Given the description of an element on the screen output the (x, y) to click on. 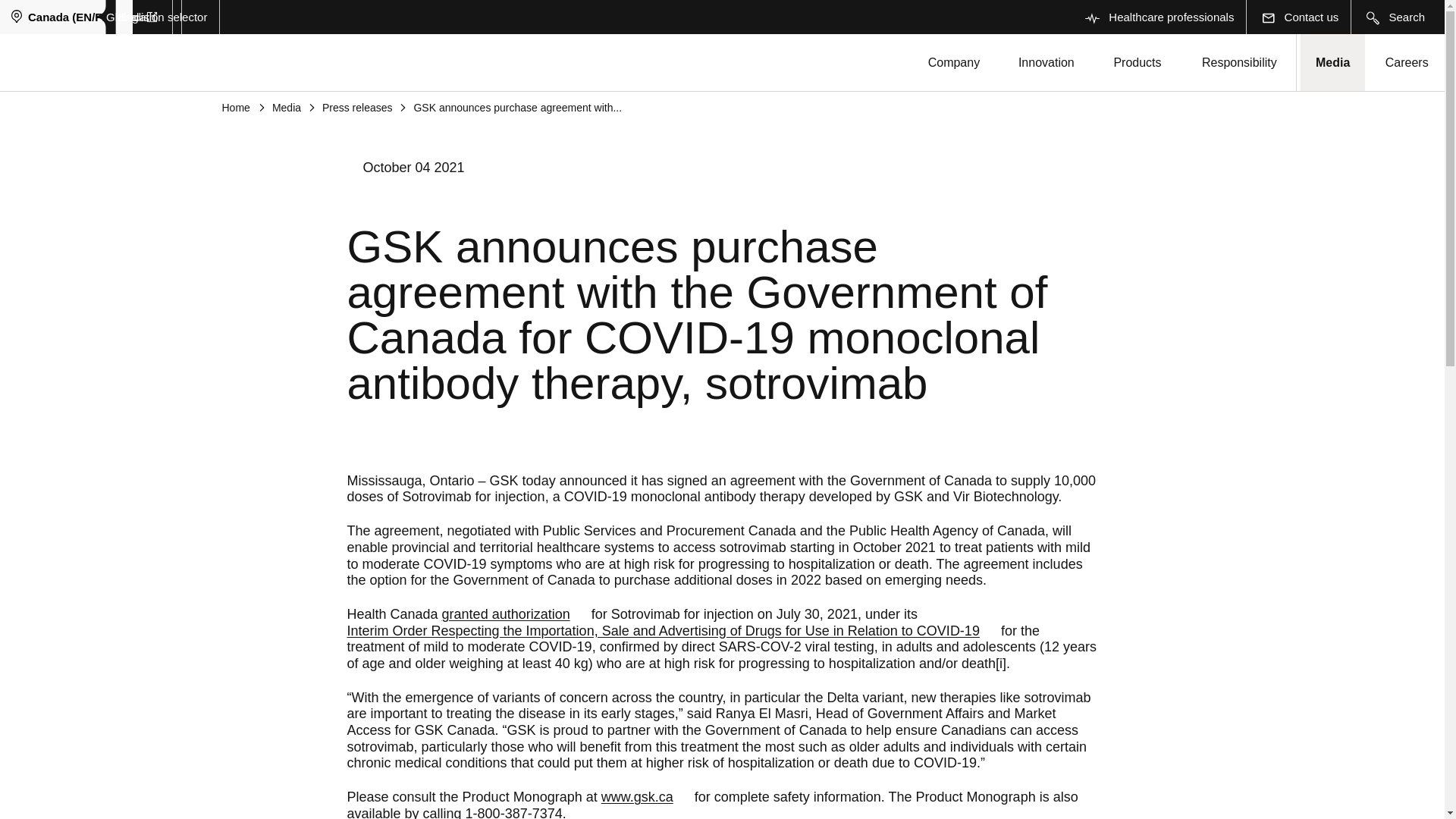
Global (131, 17)
Search (1394, 17)
Products (1136, 62)
Healthcare professionals Healthcare professionals (1158, 17)
Innovation (1046, 62)
Home (645, 797)
Contact us Contact us (1298, 17)
Healthcare professionals (1091, 18)
Country selector (144, 17)
